Given the description of an element on the screen output the (x, y) to click on. 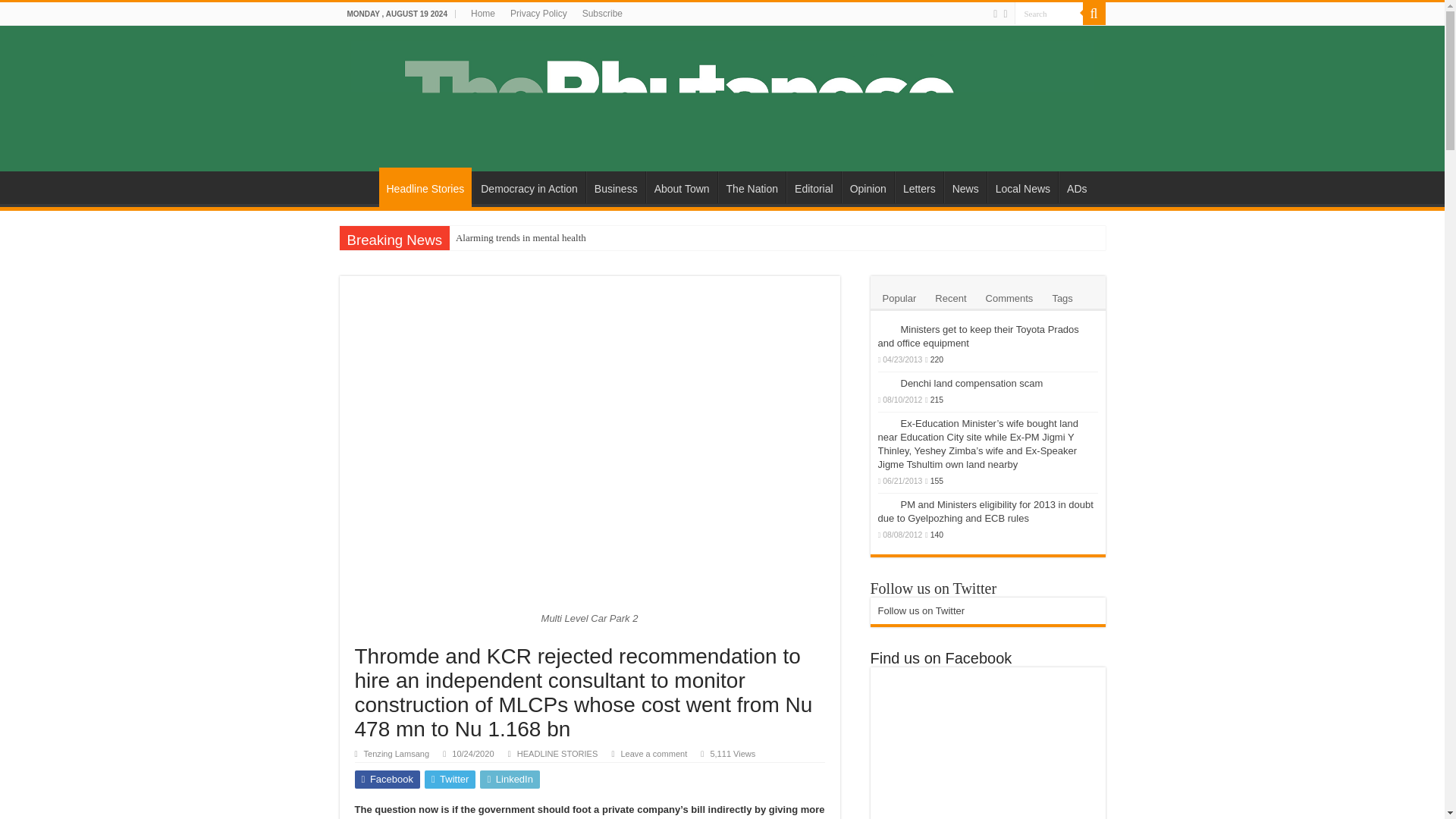
Headline Stories (424, 187)
Opinion (867, 187)
The Bhutanese (721, 94)
Letters (919, 187)
Alarming trends in mental health (641, 238)
ADs (1076, 187)
Democracy in Action (528, 187)
Alarming trends in mental health (641, 238)
Search (1048, 13)
Home (482, 13)
